Given the description of an element on the screen output the (x, y) to click on. 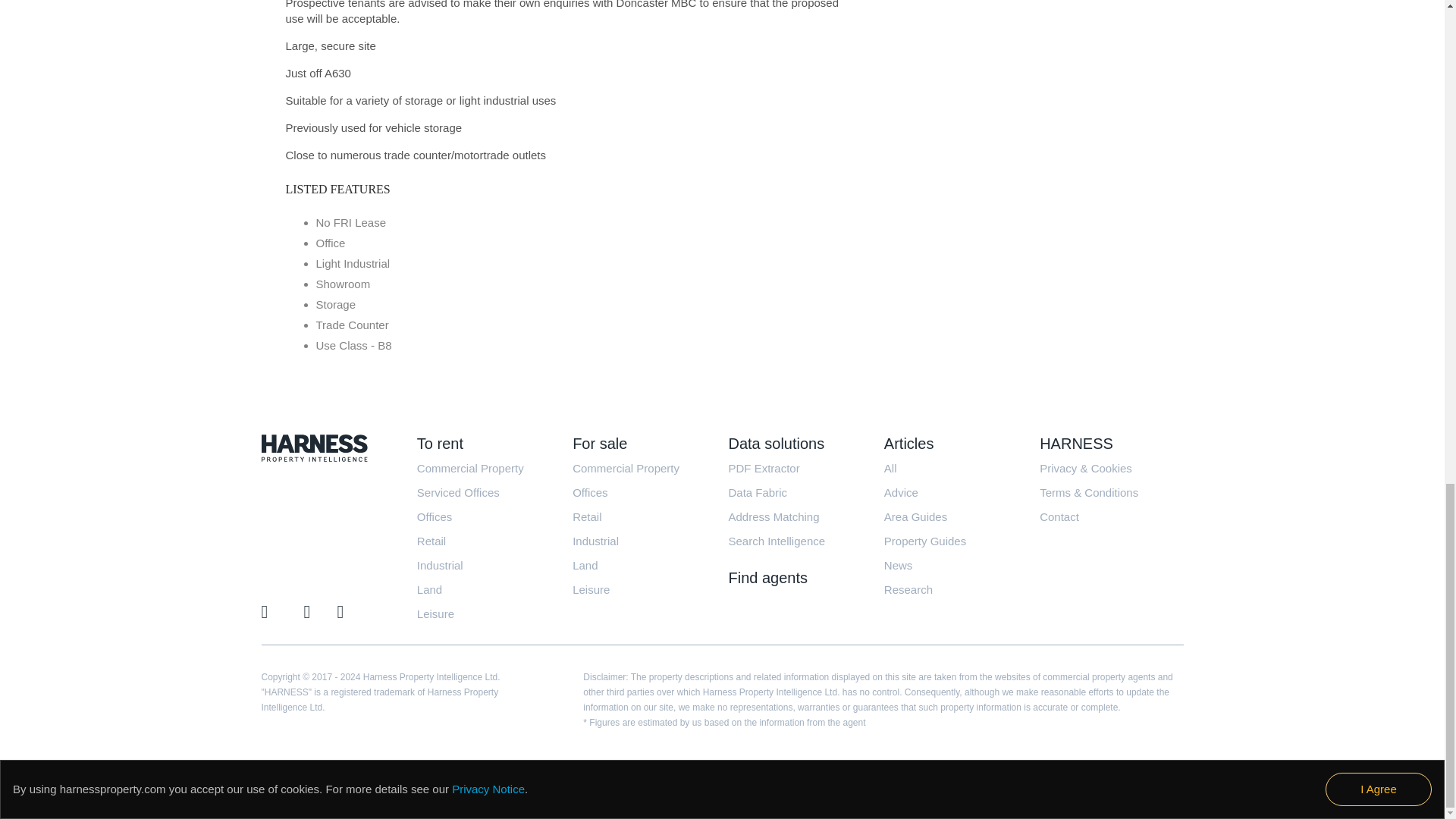
Offices (433, 515)
Commercial Property (470, 467)
Serviced Offices (457, 491)
